Given the description of an element on the screen output the (x, y) to click on. 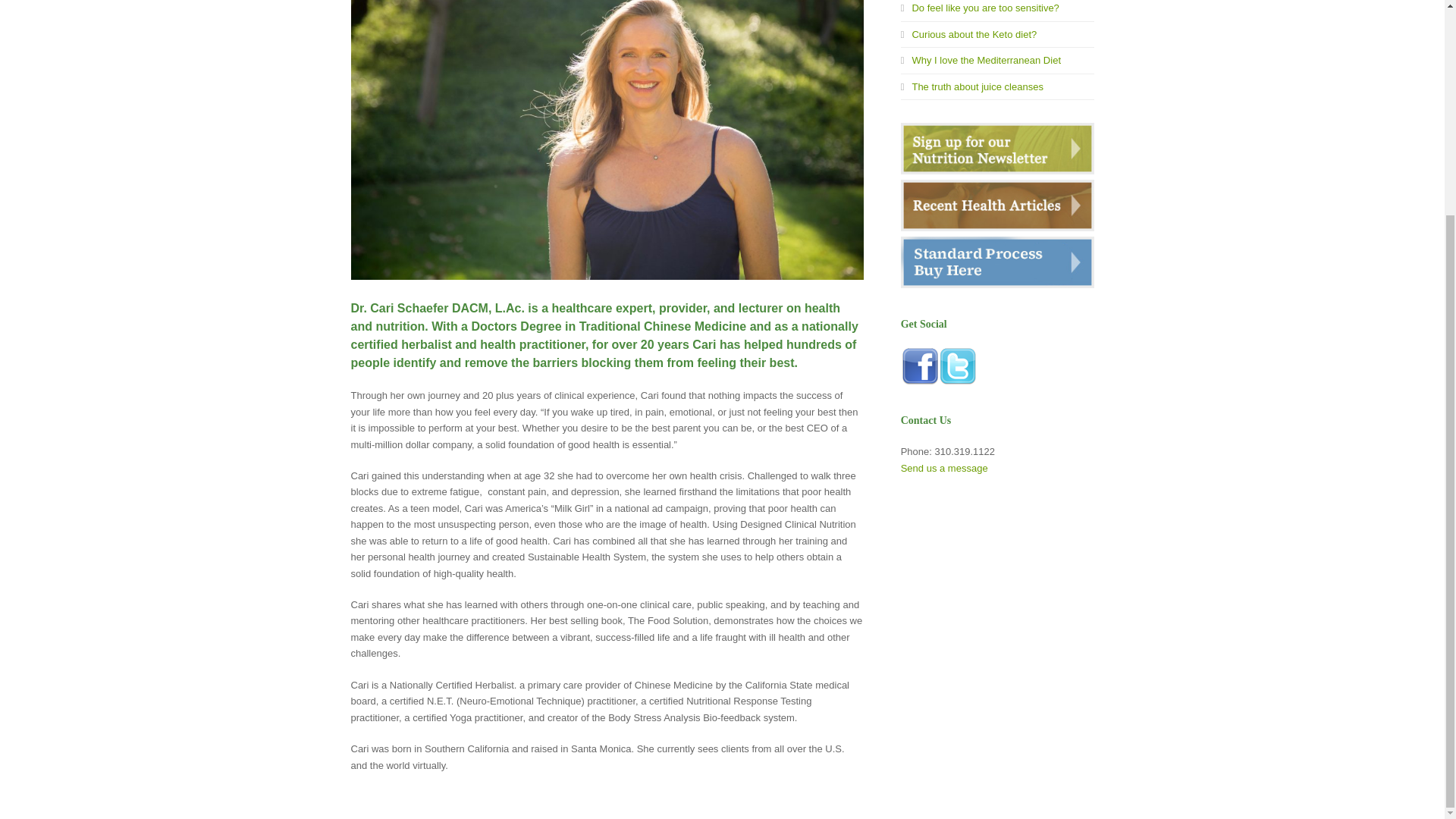
Do feel like you are too sensitive? (980, 7)
Why I love the Mediterranean Diet (981, 60)
Curious about the Keto diet? (968, 34)
